Given the description of an element on the screen output the (x, y) to click on. 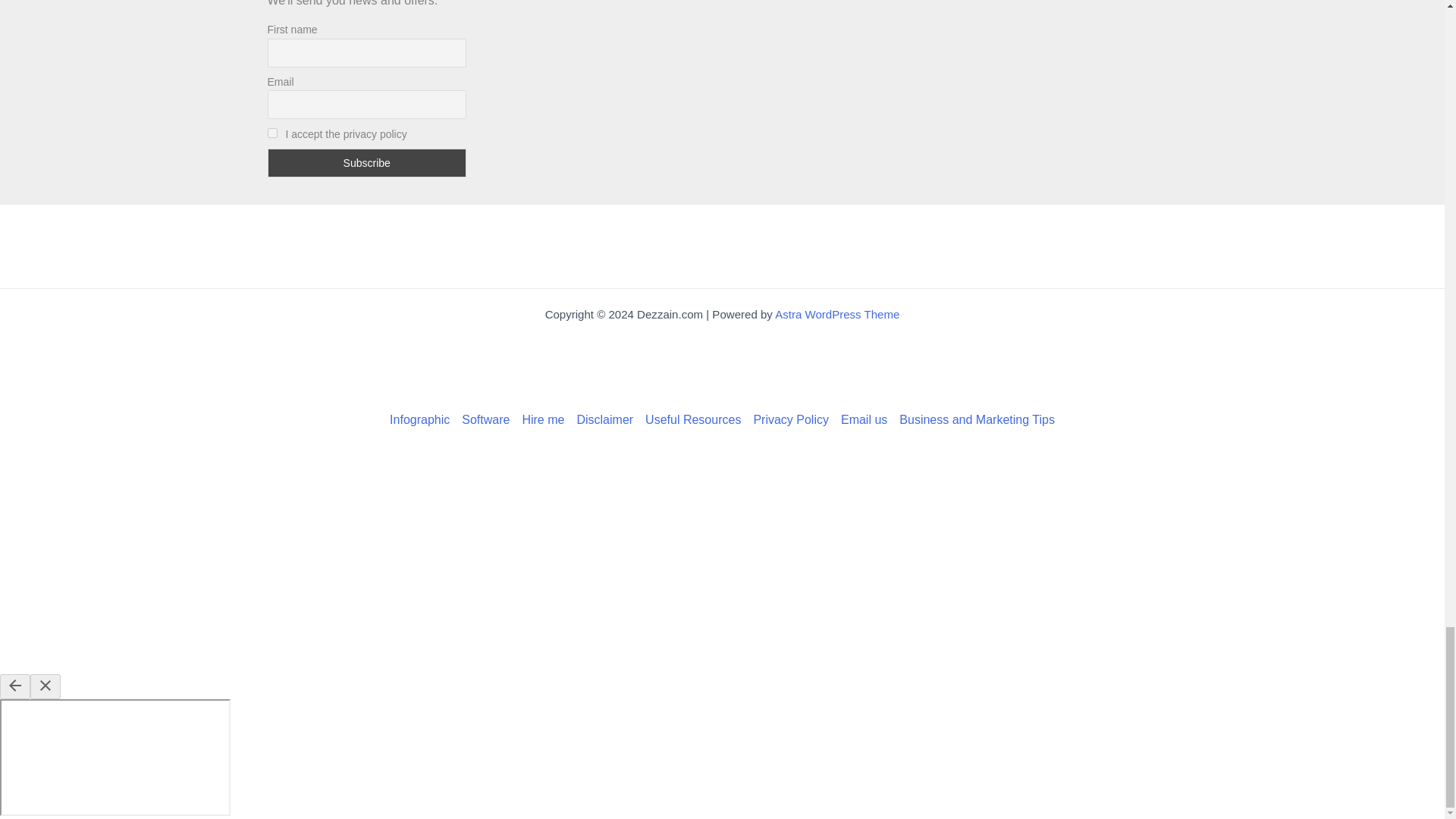
Hire Richie for Custom Work (542, 419)
on (271, 132)
Advertisement (721, 366)
Advertisement (721, 246)
Subscribe (365, 162)
